Given the description of an element on the screen output the (x, y) to click on. 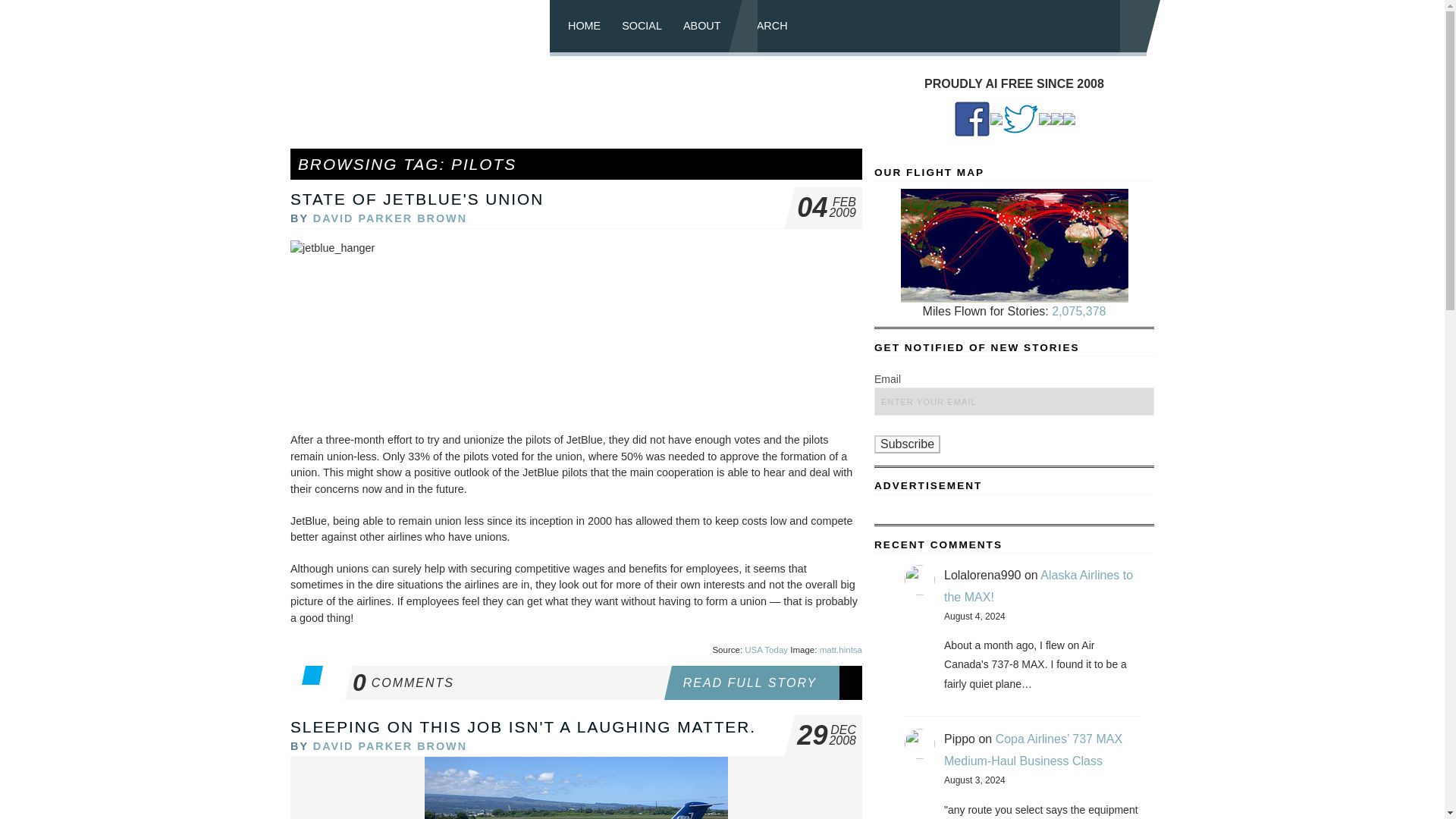
AirlineReporter (425, 28)
READ FULL STORY (507, 682)
Posts by David Parker Brown (766, 682)
Sleeping on THIS job isn't a laughing matter. (390, 218)
STATE OF JETBLUE'S UNION (522, 726)
State of JetBlue's Union (416, 199)
USA Today (416, 199)
Posts by David Parker Brown (765, 649)
DAVID PARKER BROWN (390, 746)
